Given the description of an element on the screen output the (x, y) to click on. 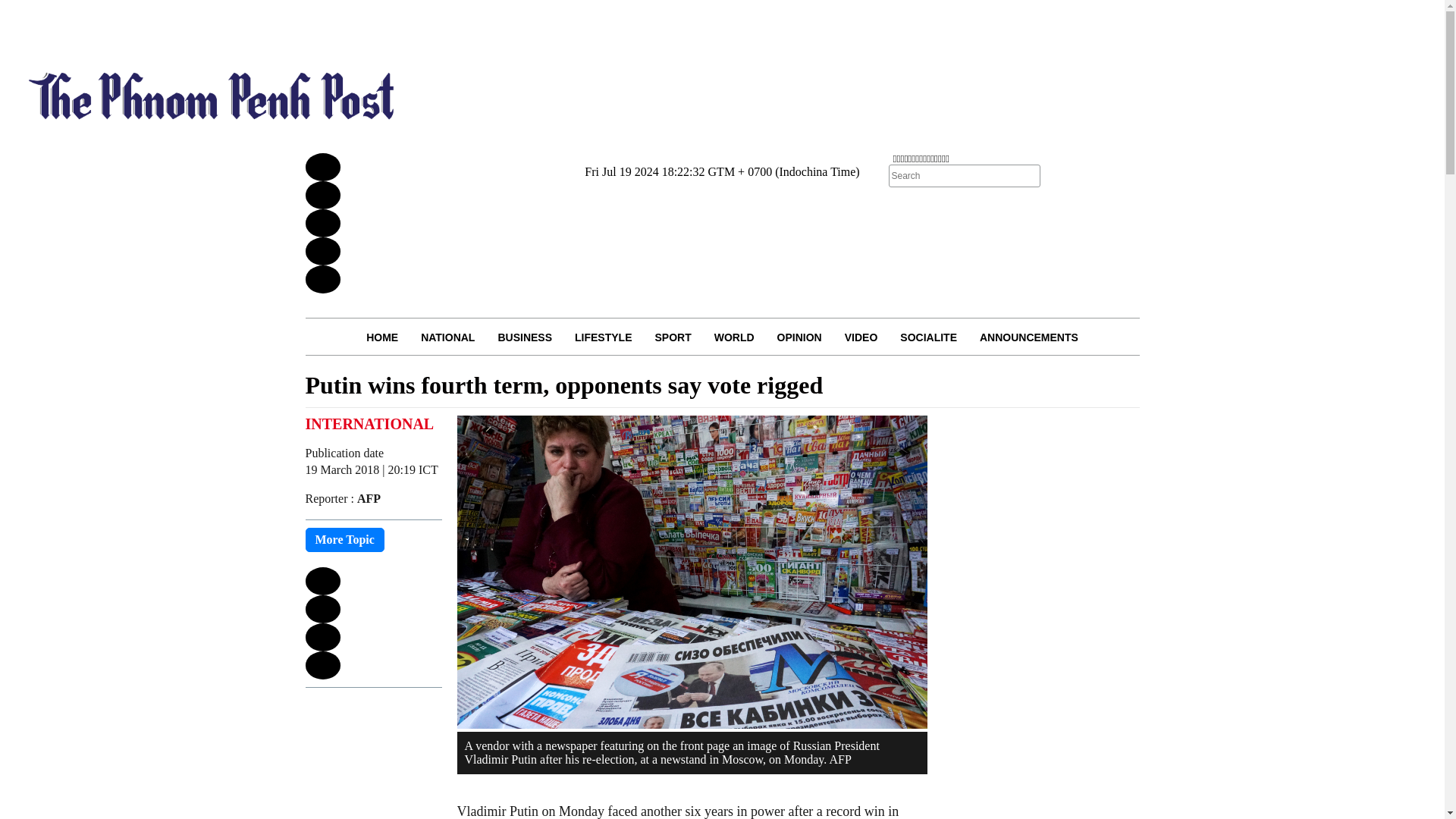
LIFESTYLE (603, 336)
More Topic (344, 539)
NATIONAL (447, 336)
VIDEO (860, 336)
OPINION (798, 336)
SPORT (672, 336)
BUSINESS (524, 336)
SOCIALITE (928, 336)
WORLD (734, 336)
HOME (382, 336)
ANNOUNCEMENTS (1028, 336)
